Given the description of an element on the screen output the (x, y) to click on. 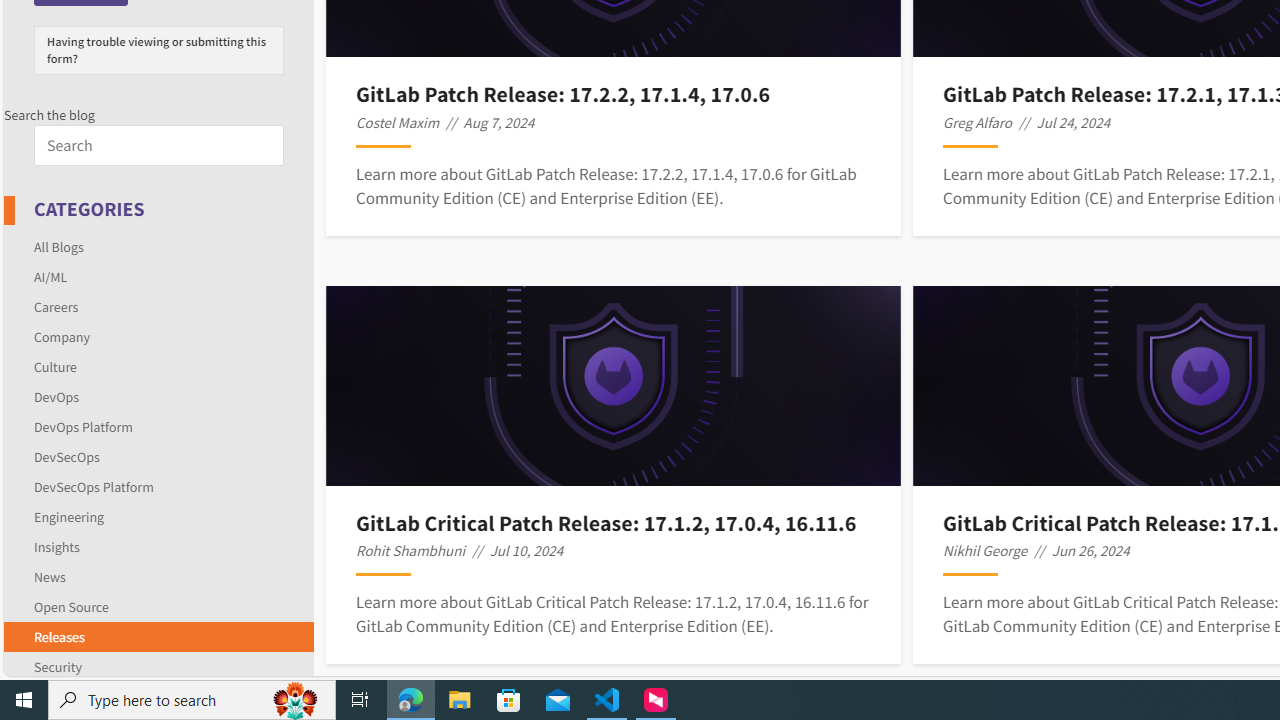
DevSecOps (158, 456)
Costel Maxim (397, 121)
Insights (158, 546)
Rohit Shambhuni (410, 550)
Engineering (158, 516)
DevSecOps Platform (158, 485)
Careers (158, 305)
GitLab Critical Patch Release: 17.1.2, 17.0.4, 16.11.6 (613, 522)
Nikhil George (985, 550)
Security (158, 663)
Post Image (614, 385)
DevOps (158, 395)
Open Source (71, 605)
Releases (59, 636)
